Given the description of an element on the screen output the (x, y) to click on. 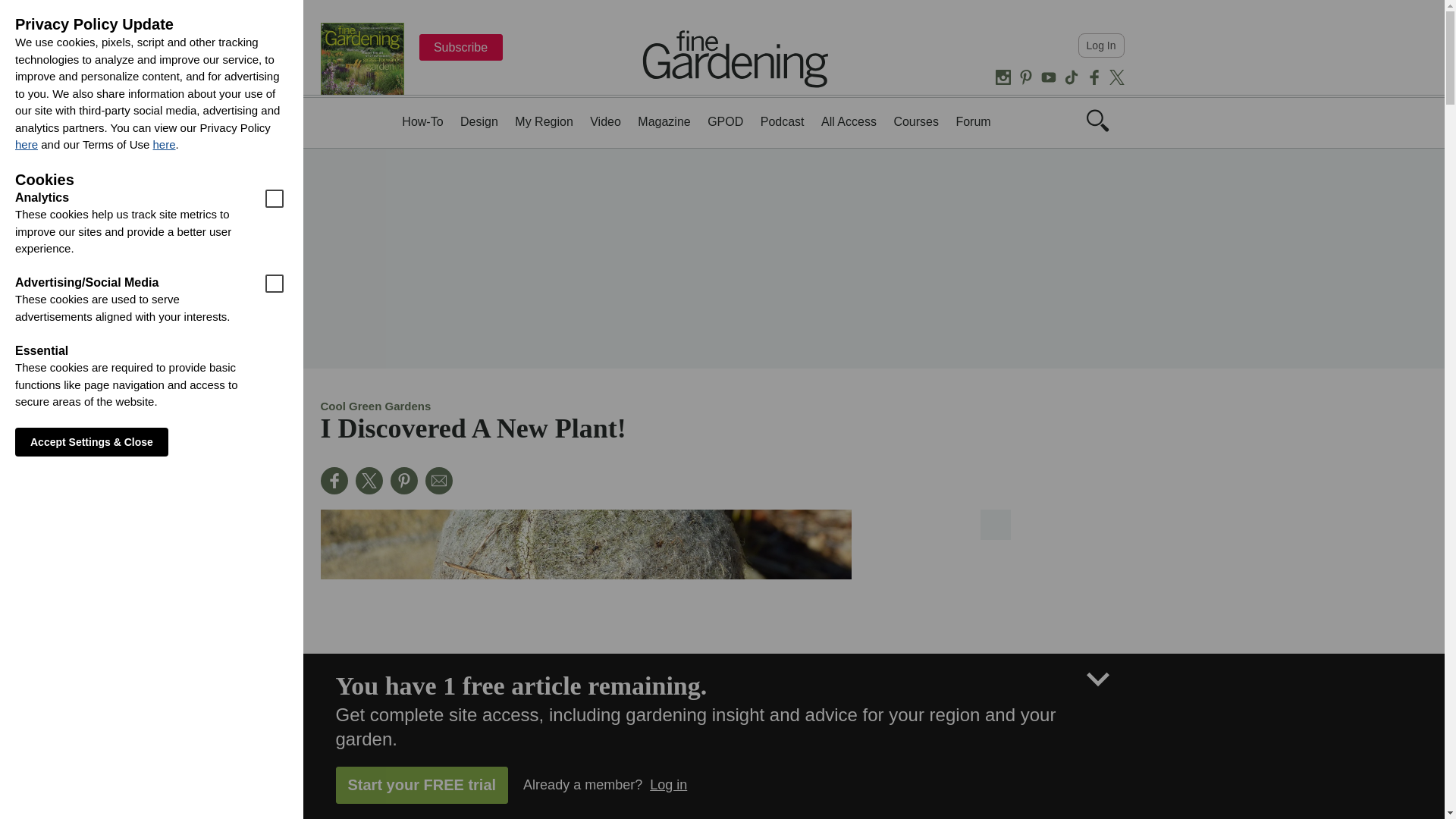
Fine Gardening (735, 58)
Facebook (333, 480)
Open Search (1097, 127)
Subscribe (460, 47)
Magazine (663, 121)
Courses (916, 121)
Podcast (782, 121)
Cool Green Gardens (375, 405)
Facebook (1093, 77)
Twitter (1116, 77)
